Given the description of an element on the screen output the (x, y) to click on. 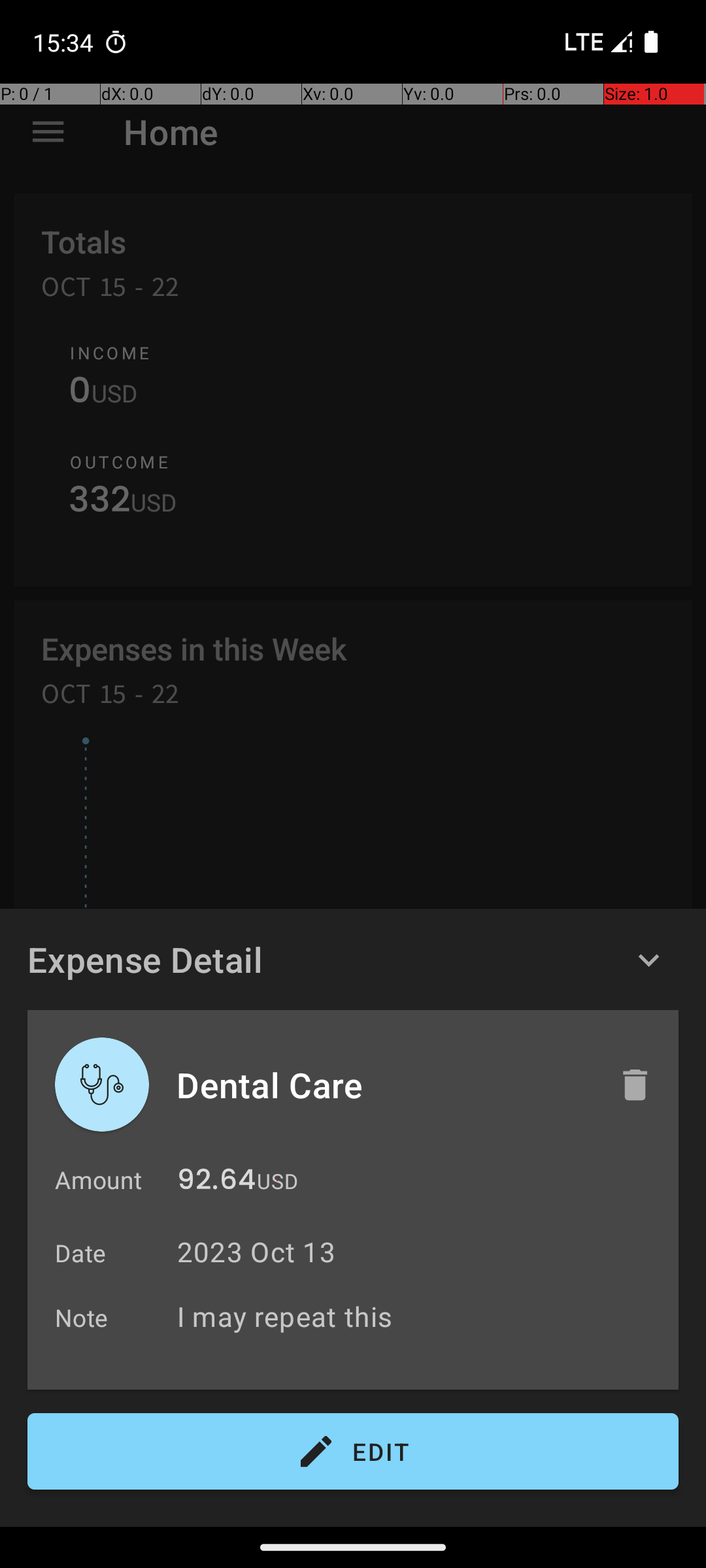
Dental Care Element type: android.widget.TextView (383, 1084)
92.64 Element type: android.widget.TextView (216, 1182)
